Given the description of an element on the screen output the (x, y) to click on. 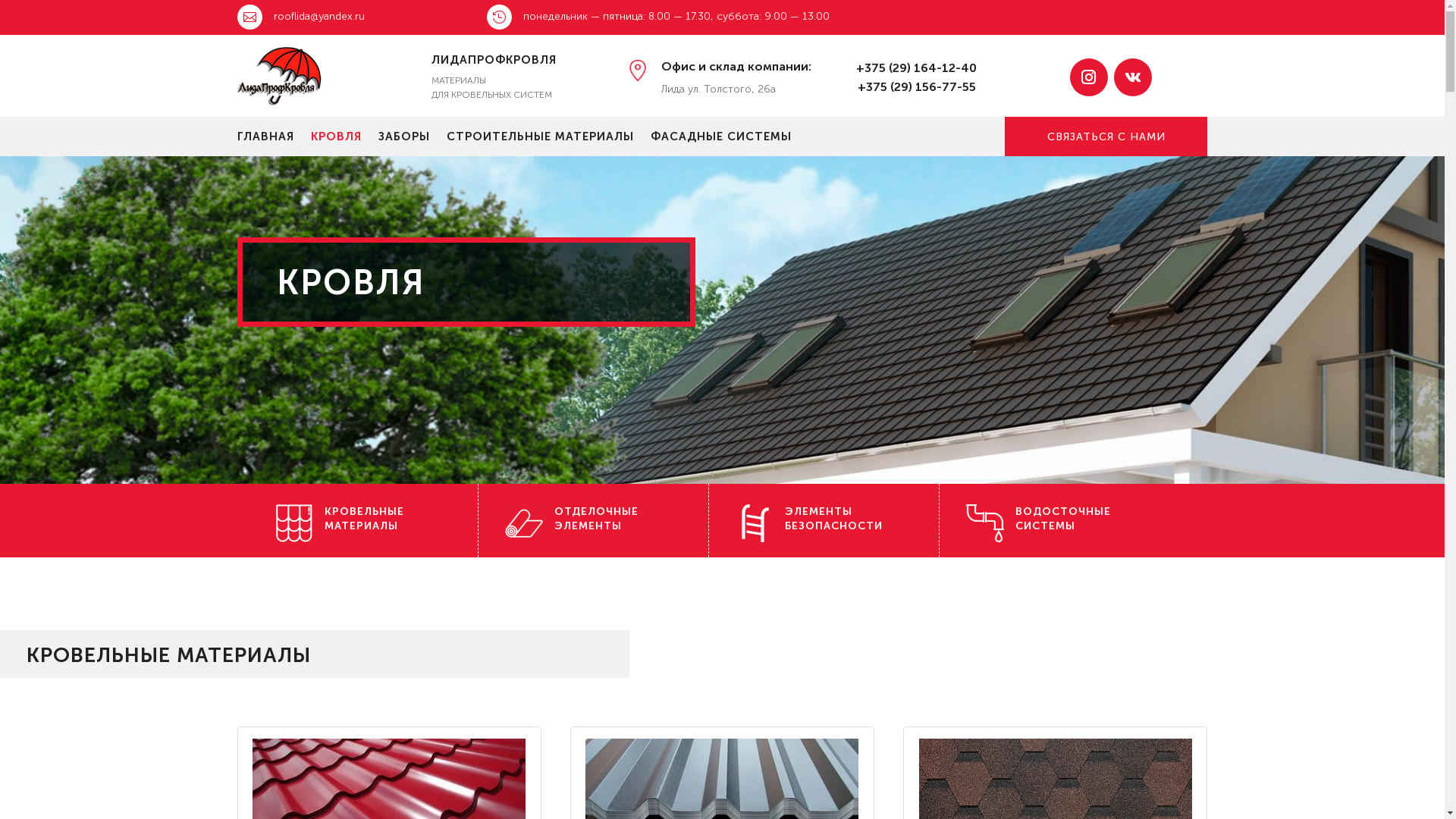
logo4 Element type: hover (279, 75)
+375 (29) 156-77-55 Element type: text (915, 86)
+375 (29) 164-12-40 Element type: text (916, 67)
rooflida@yandex.ru Element type: text (318, 15)
